Given the description of an element on the screen output the (x, y) to click on. 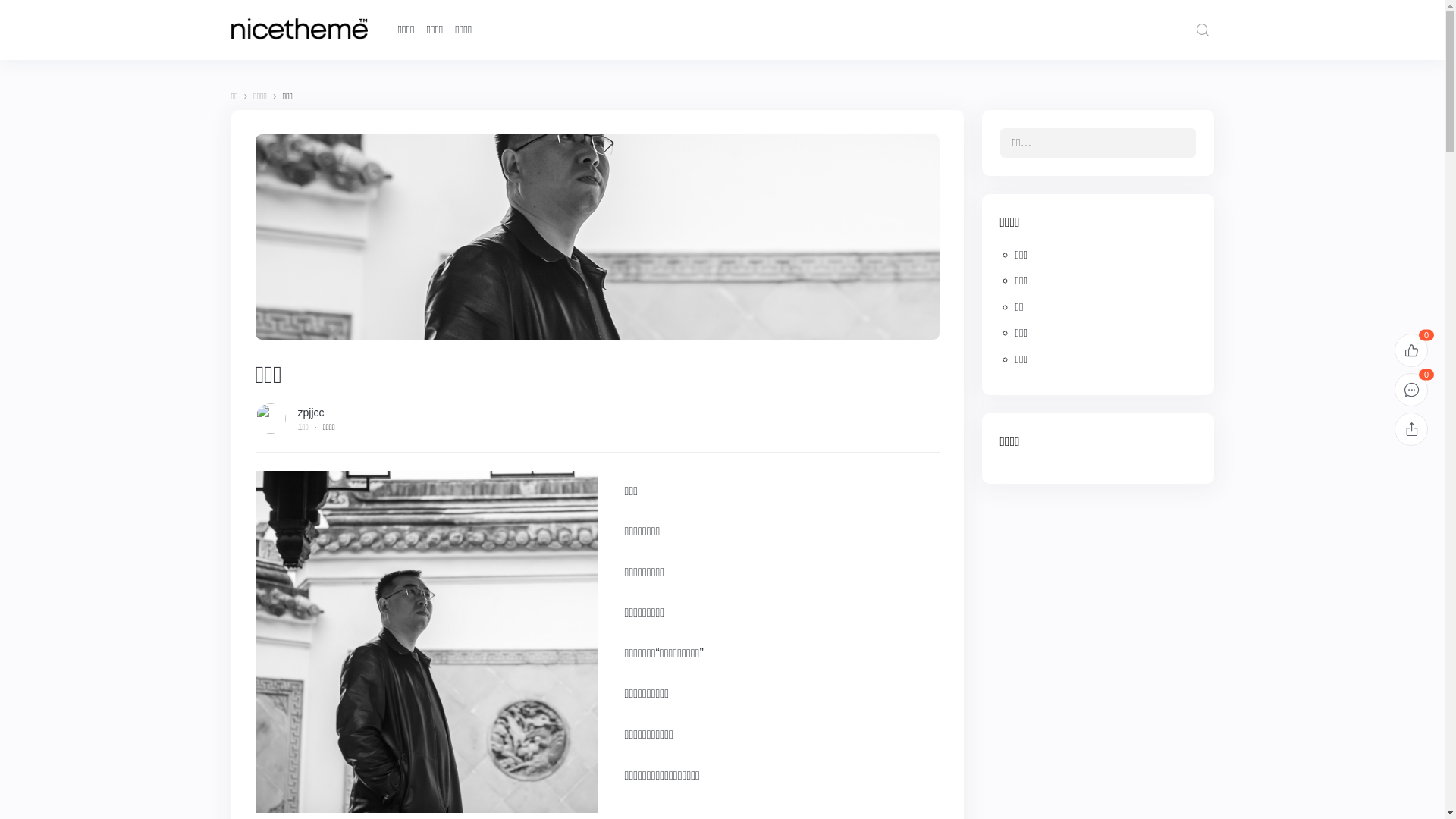
zpjjcc Element type: text (310, 412)
0 Element type: text (1410, 350)
0 Element type: text (1410, 389)
